Given the description of an element on the screen output the (x, y) to click on. 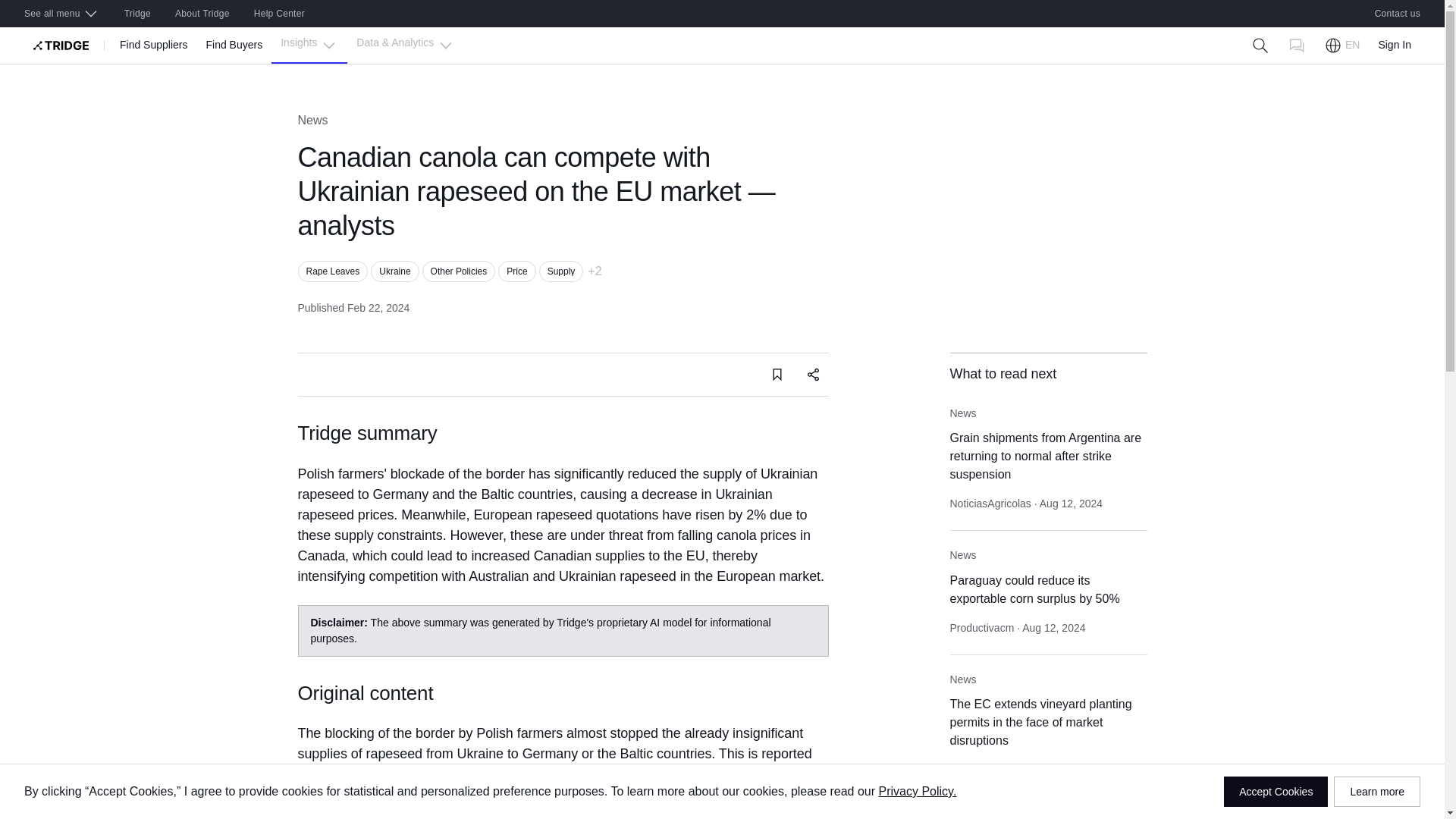
Tridge (137, 13)
Help Center (279, 13)
About Tridge (202, 13)
See all menu (61, 13)
Contact us (1397, 13)
